Given the description of an element on the screen output the (x, y) to click on. 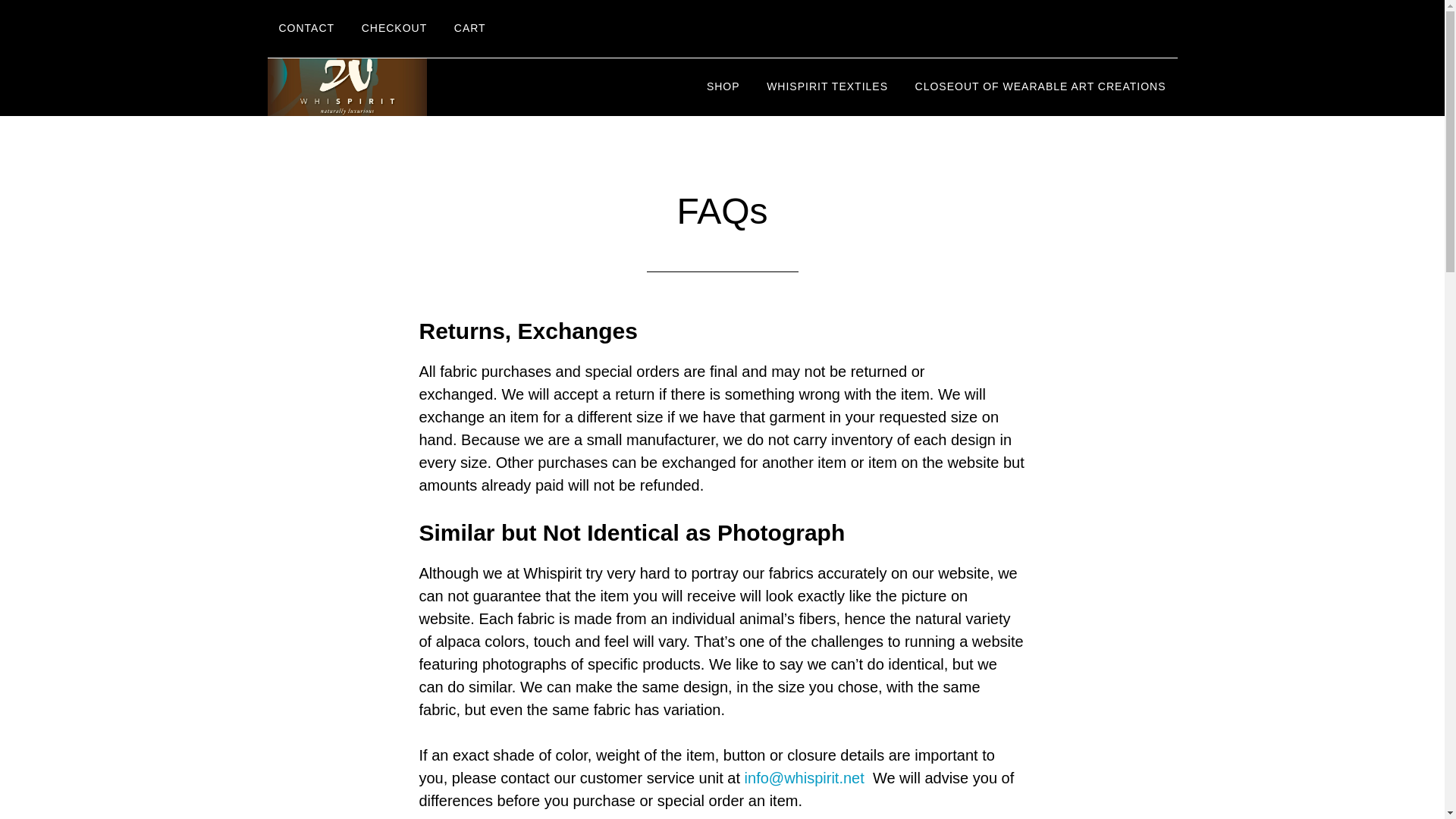
CART (469, 28)
WHISPIRIT (403, 87)
CLOSEOUT OF WEARABLE ART CREATIONS (1040, 87)
CHECKOUT (394, 28)
WHISPIRIT TEXTILES (827, 87)
SHOP (723, 87)
CONTACT (306, 28)
